Given the description of an element on the screen output the (x, y) to click on. 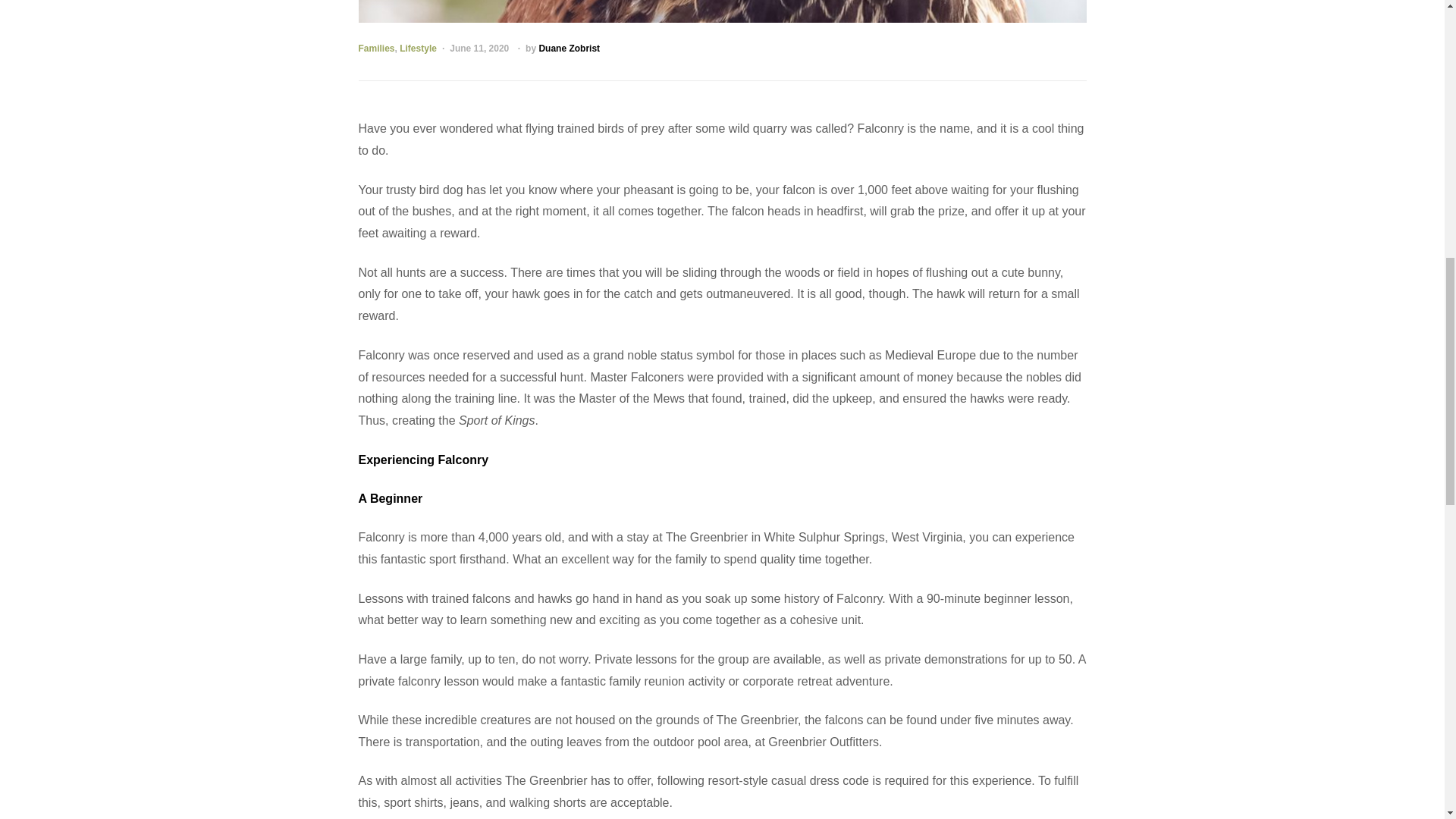
June 11, 2020 (478, 48)
Lifestyle (417, 48)
Duane Zobrist (568, 48)
Families (376, 48)
